Given the description of an element on the screen output the (x, y) to click on. 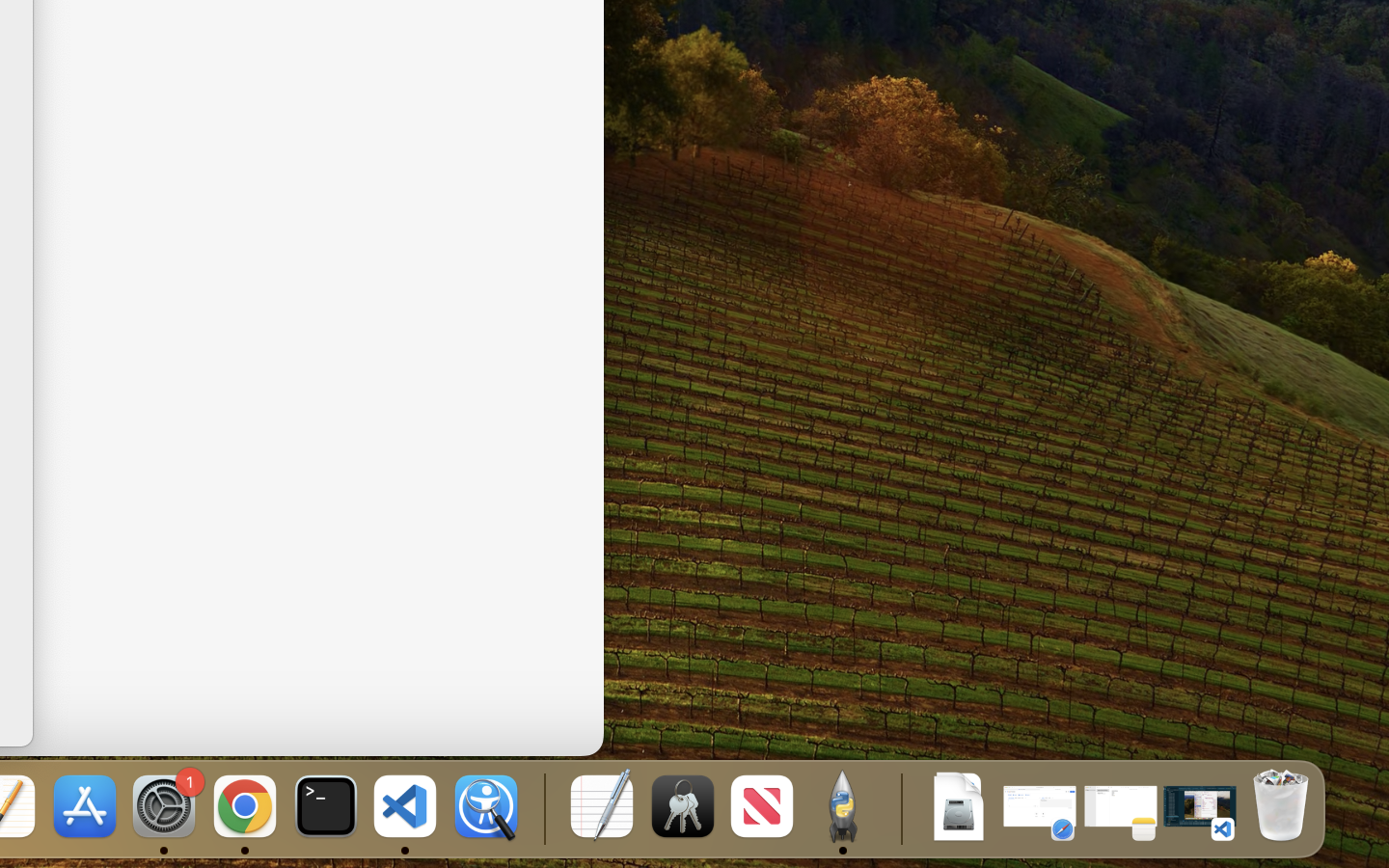
0.4285714328289032 Element type: AXDockItem (541, 807)
